Given the description of an element on the screen output the (x, y) to click on. 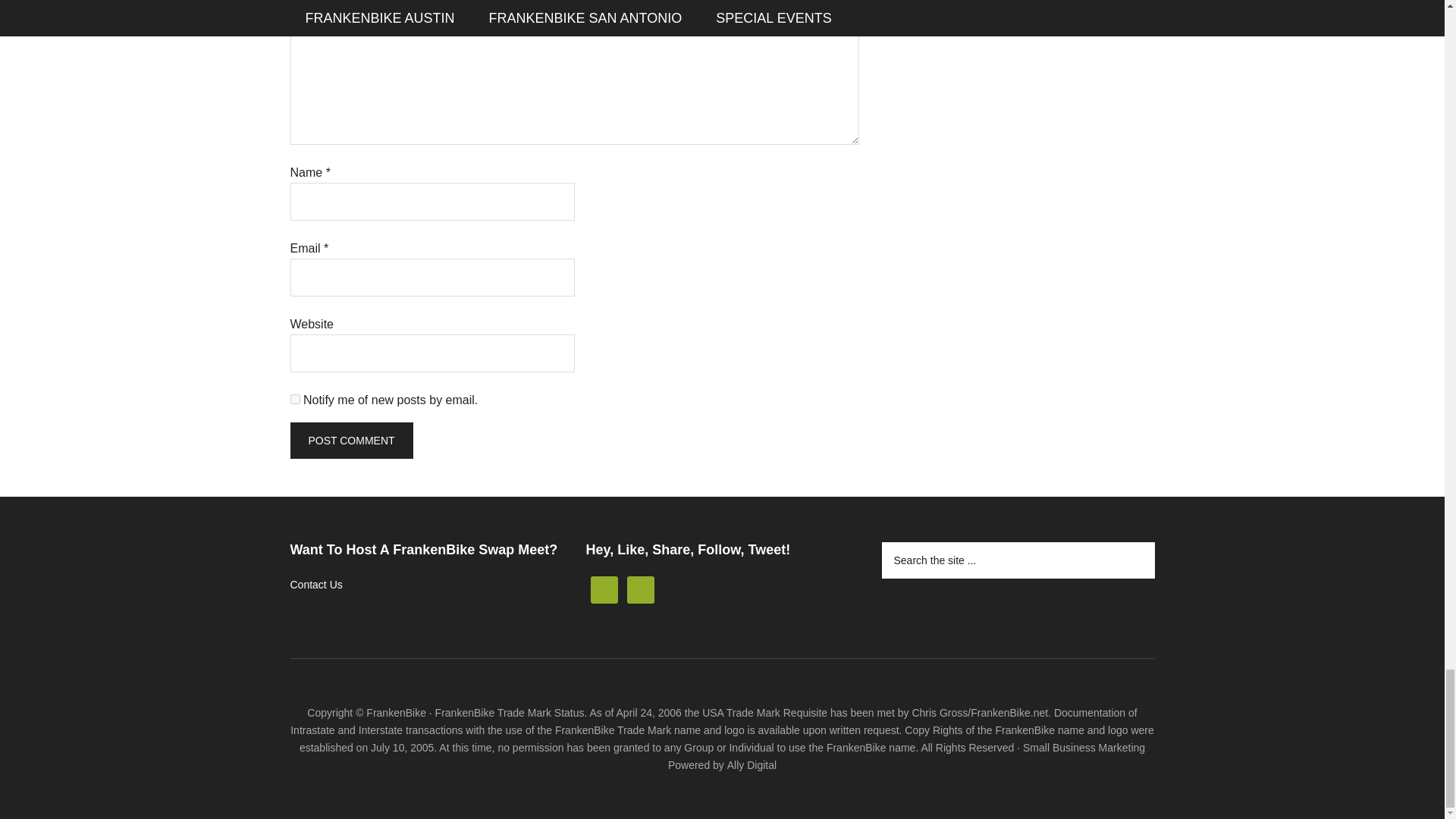
Post Comment (350, 440)
subscribe (294, 398)
